Given the description of an element on the screen output the (x, y) to click on. 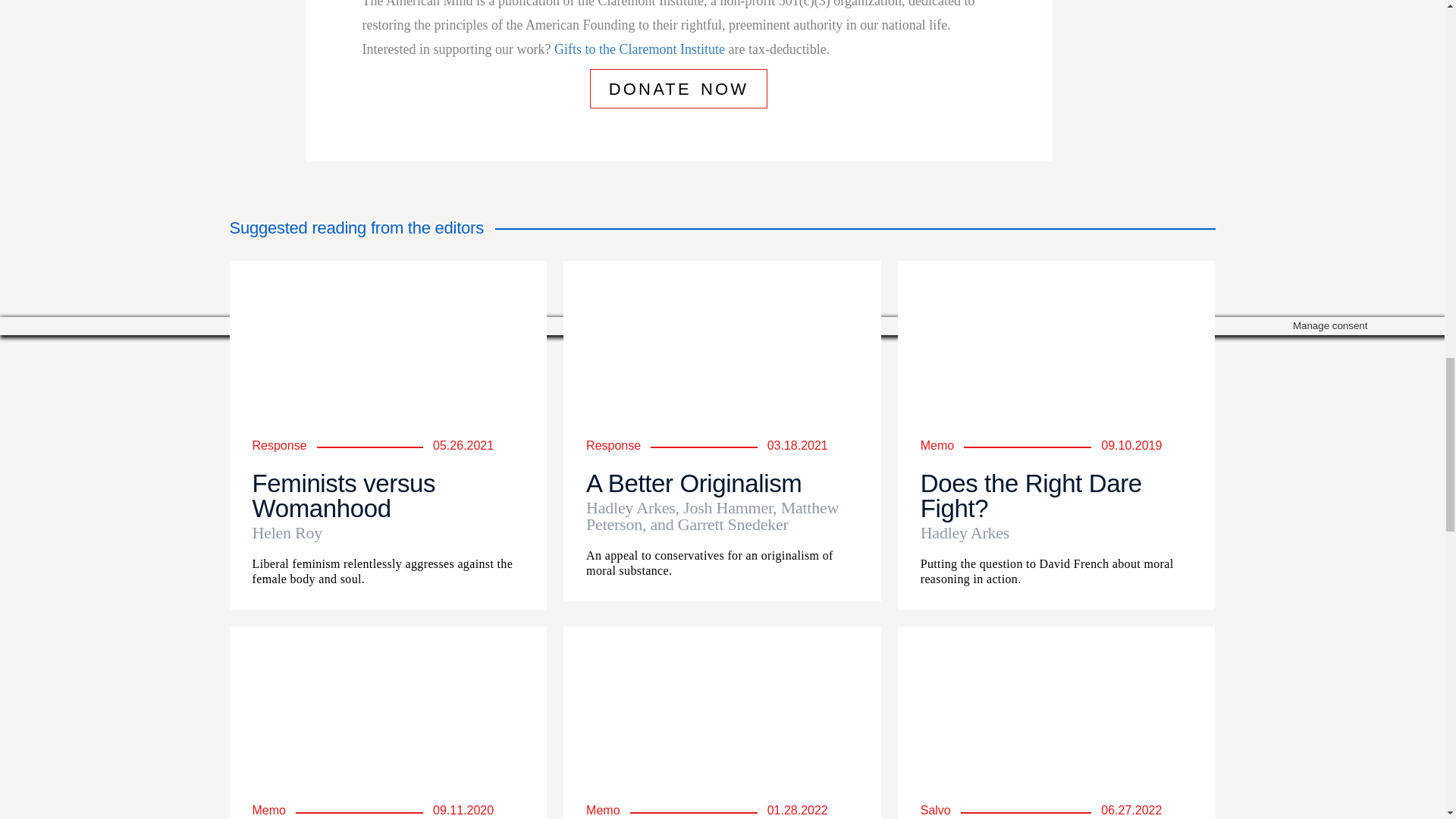
Does the Right Dare Fight? (1030, 495)
Posts by Hadley Arkes (1056, 532)
donate now (678, 88)
Helen Roy (387, 532)
Hadley Arkes (1056, 532)
A Better Originalism (694, 483)
Feminists versus Womanhood (343, 495)
Posts by Helen Roy (387, 532)
